Given the description of an element on the screen output the (x, y) to click on. 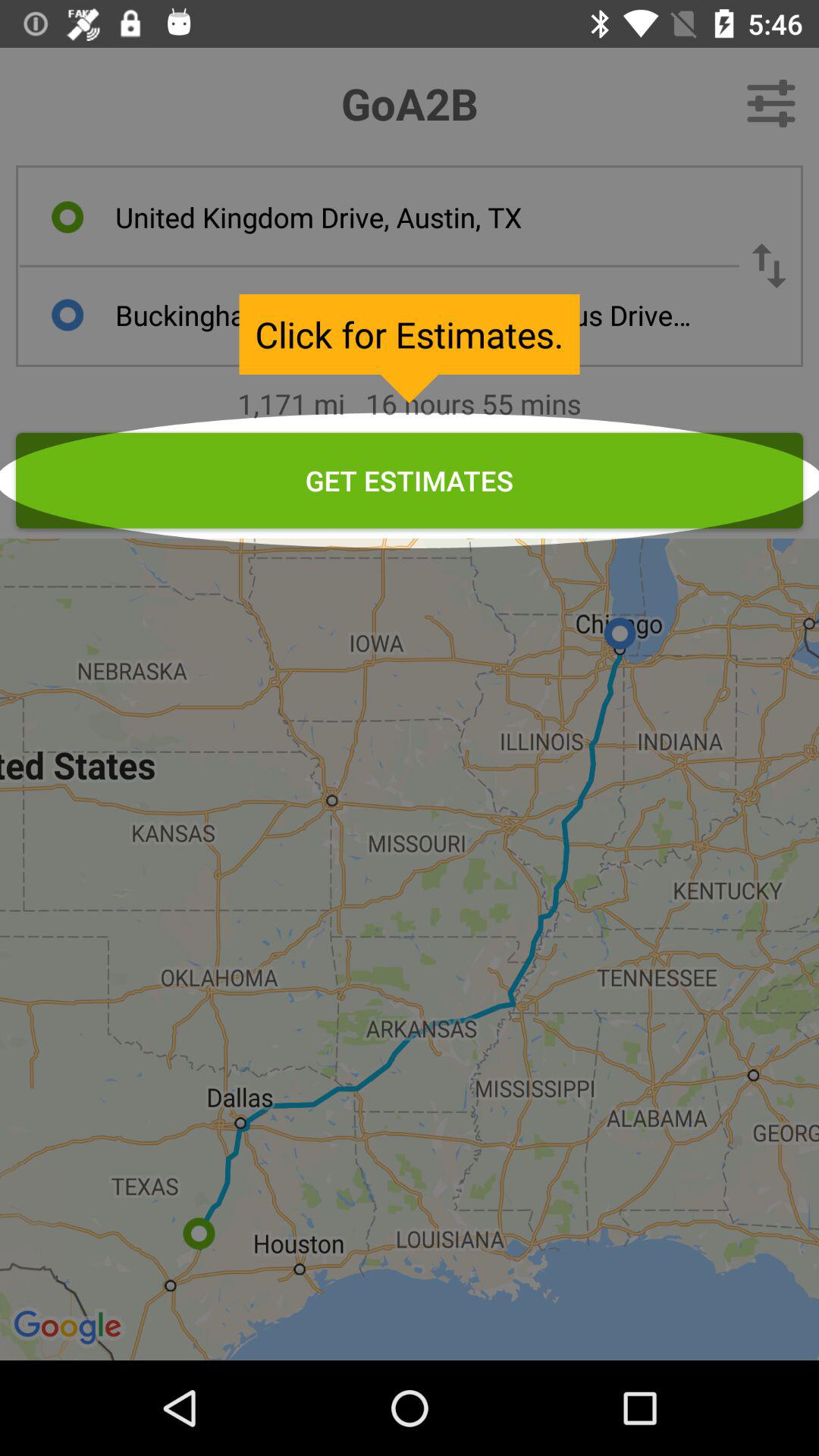
toggle swap (769, 265)
